Given the description of an element on the screen output the (x, y) to click on. 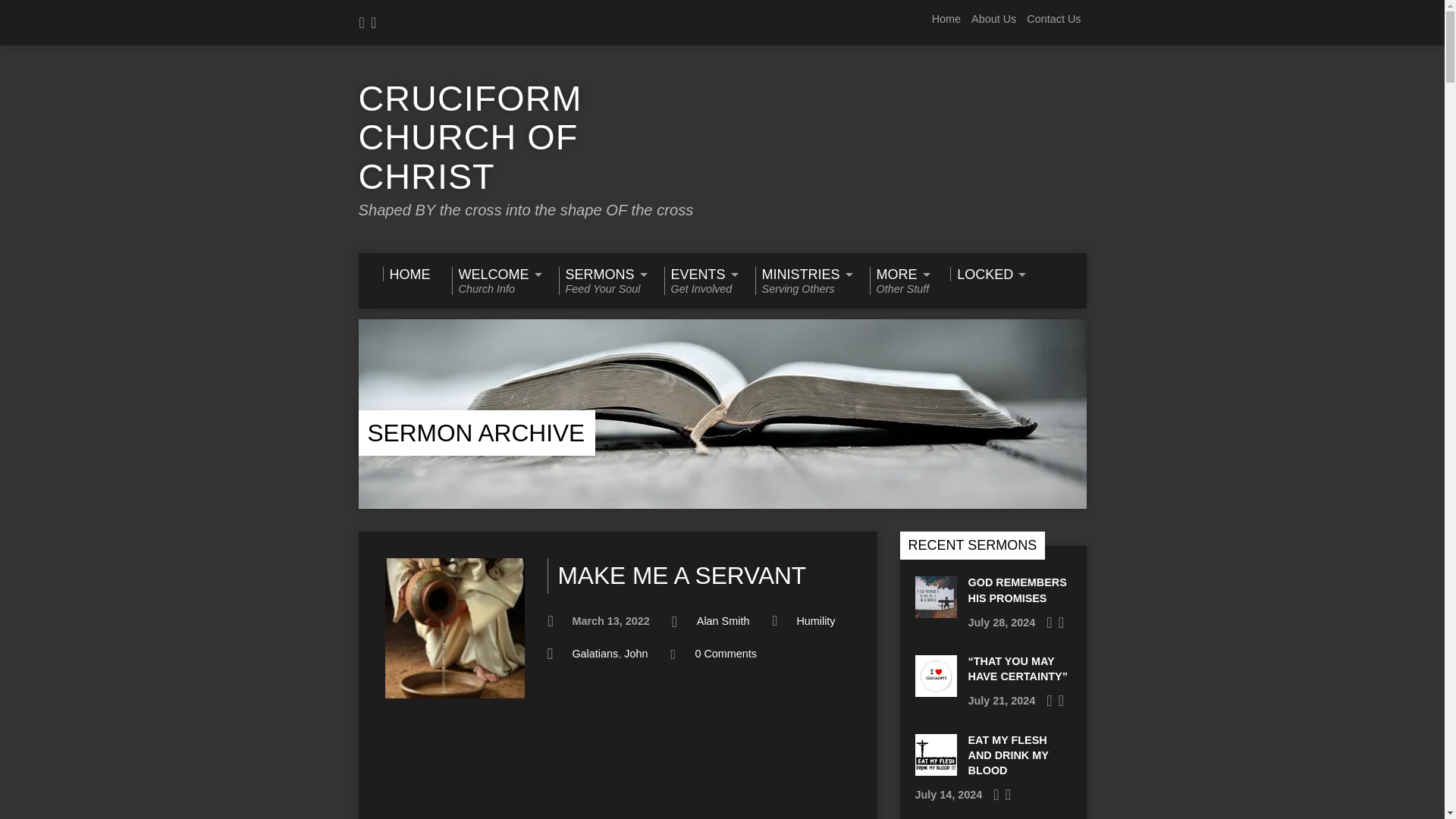
Alan Smith (723, 621)
HOME (405, 273)
0 Comments (725, 653)
John (635, 653)
Galatians (594, 653)
SERMON ARCHIVE (475, 432)
God Remembers His Promises (801, 280)
Home (1016, 589)
0 Comments (601, 280)
LOCKED (945, 19)
